Given the description of an element on the screen output the (x, y) to click on. 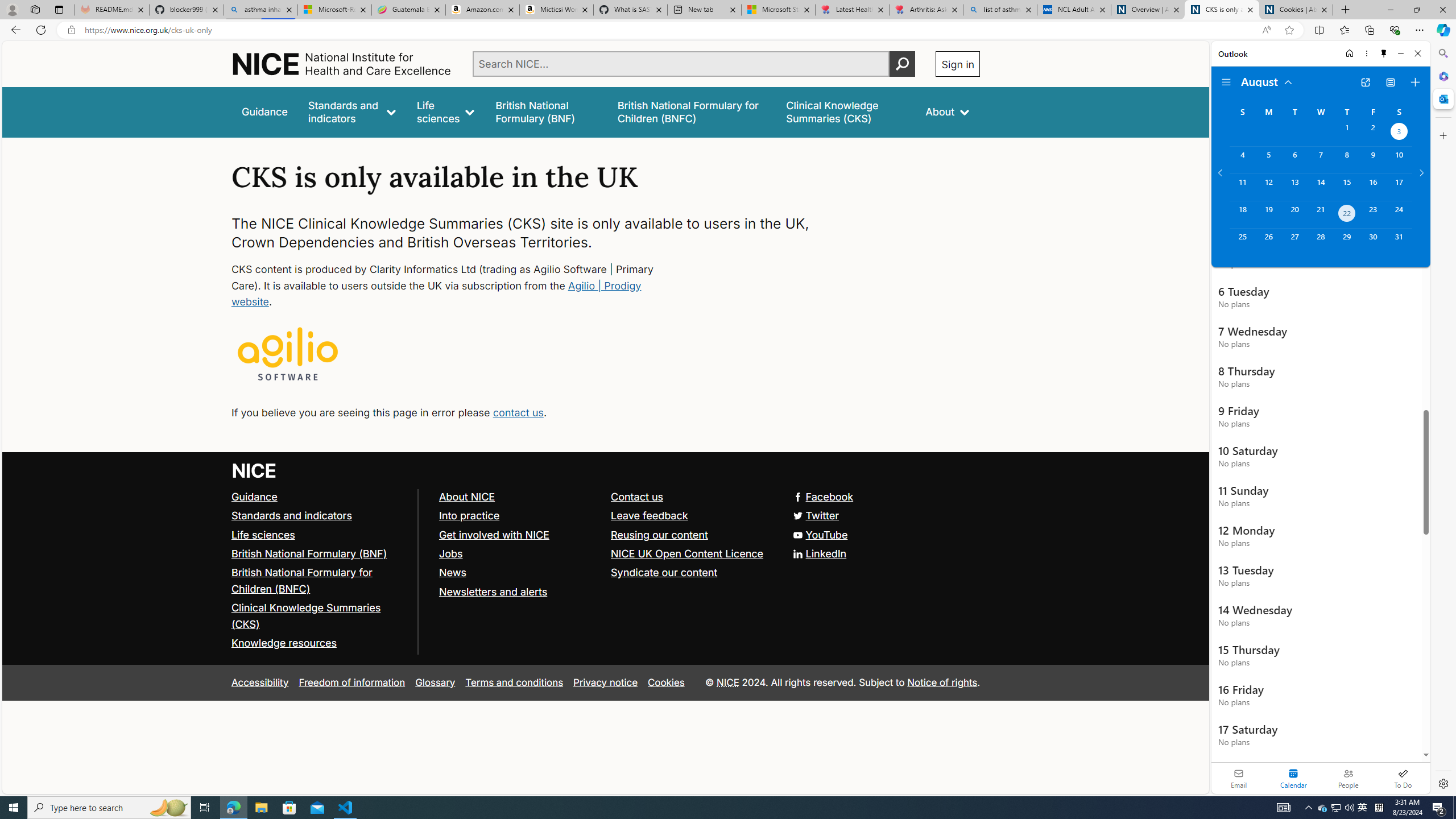
Get involved with NICE (493, 534)
Privacy notice (605, 682)
Perform search (902, 63)
Glossary (434, 682)
asthma inhaler - Search (260, 9)
Saturday, August 10, 2024.  (1399, 159)
Newsletters and alerts (518, 591)
LinkedIn (605, 553)
Sunday, August 11, 2024.  (1242, 186)
